Given the description of an element on the screen output the (x, y) to click on. 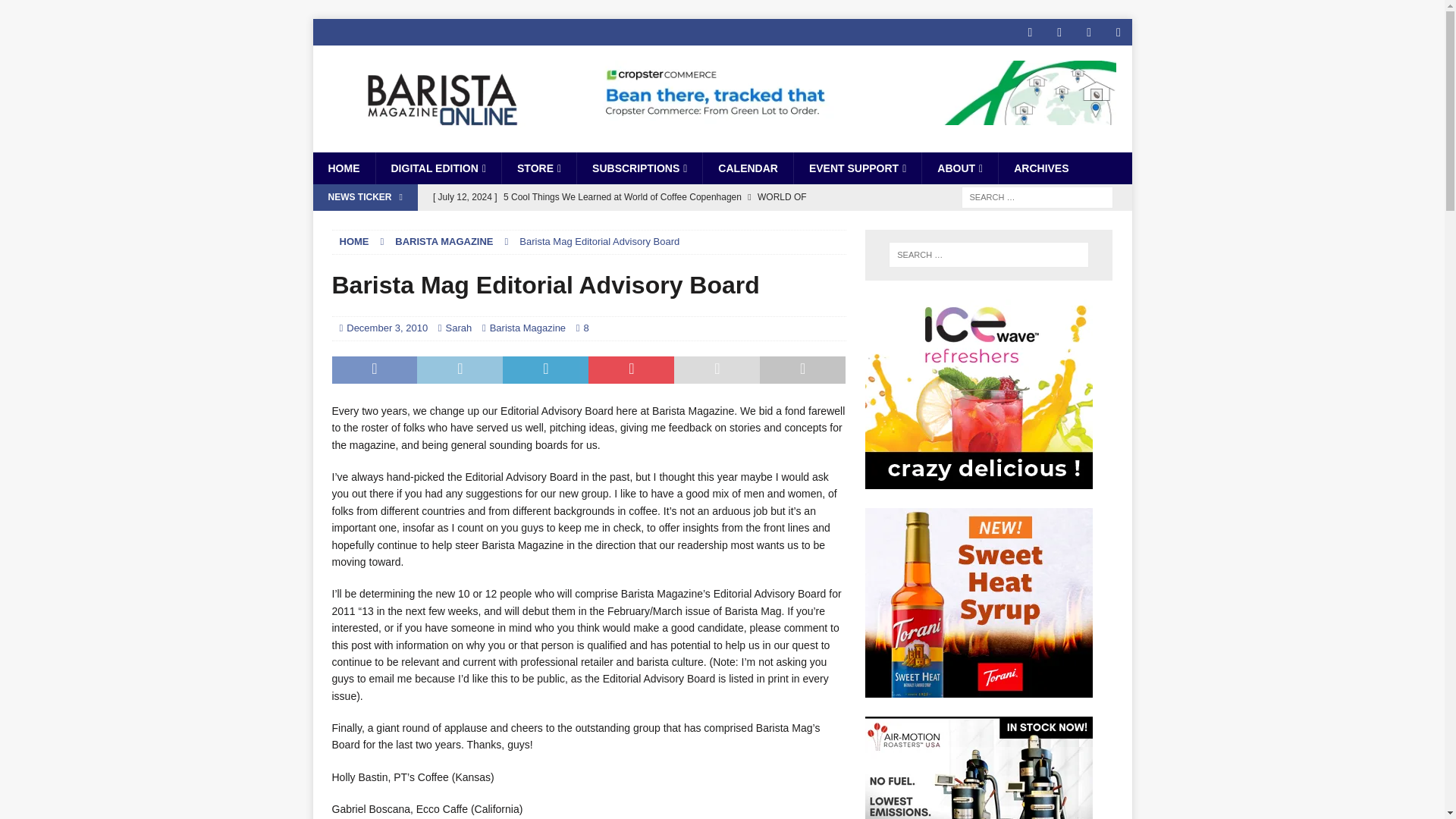
DIGITAL EDITION (437, 168)
HOME (343, 168)
5 Cool Things We Learned at World of Coffee Copenhagen (634, 209)
